Given the description of an element on the screen output the (x, y) to click on. 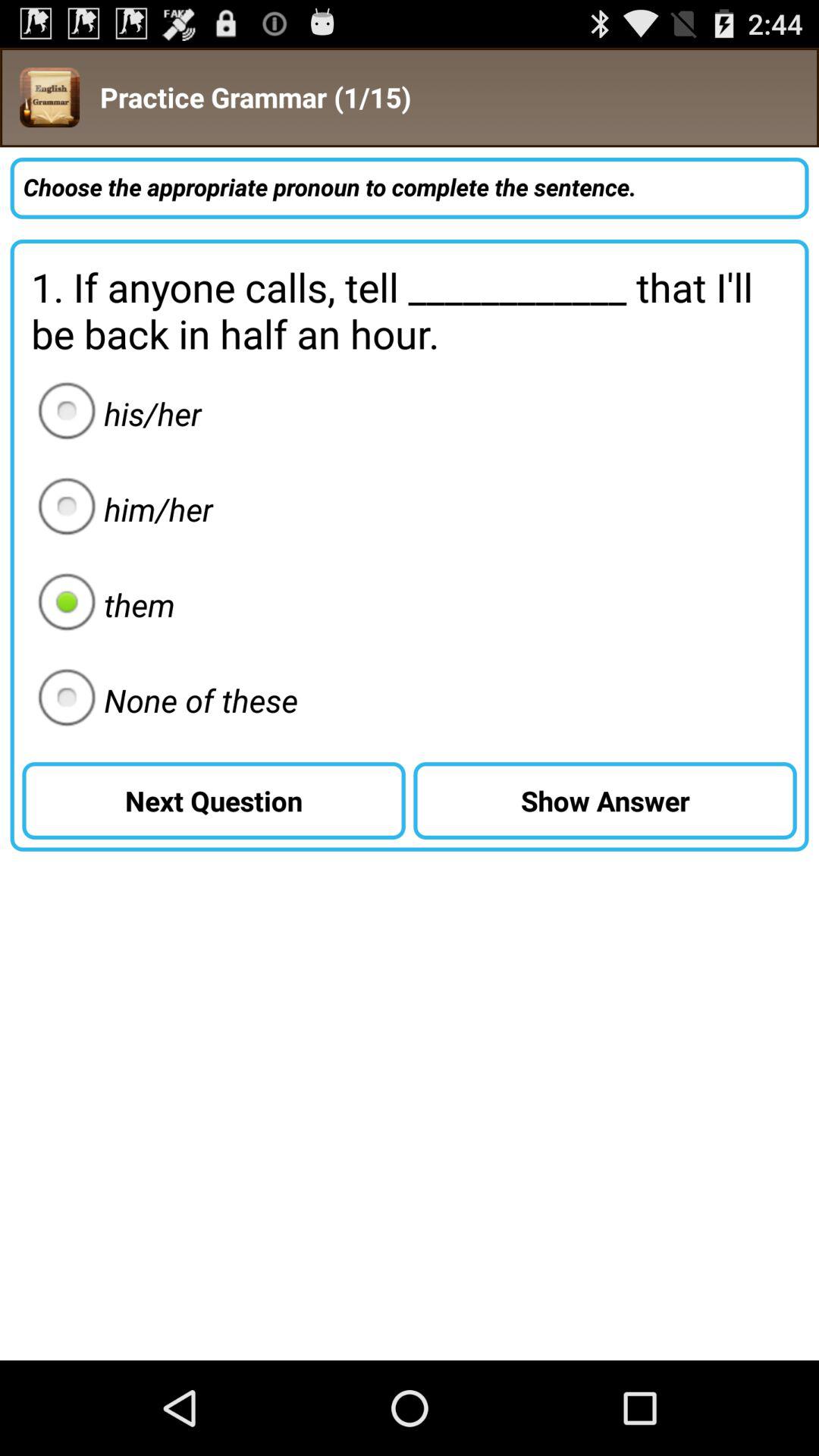
open item above the next question (163, 699)
